Given the description of an element on the screen output the (x, y) to click on. 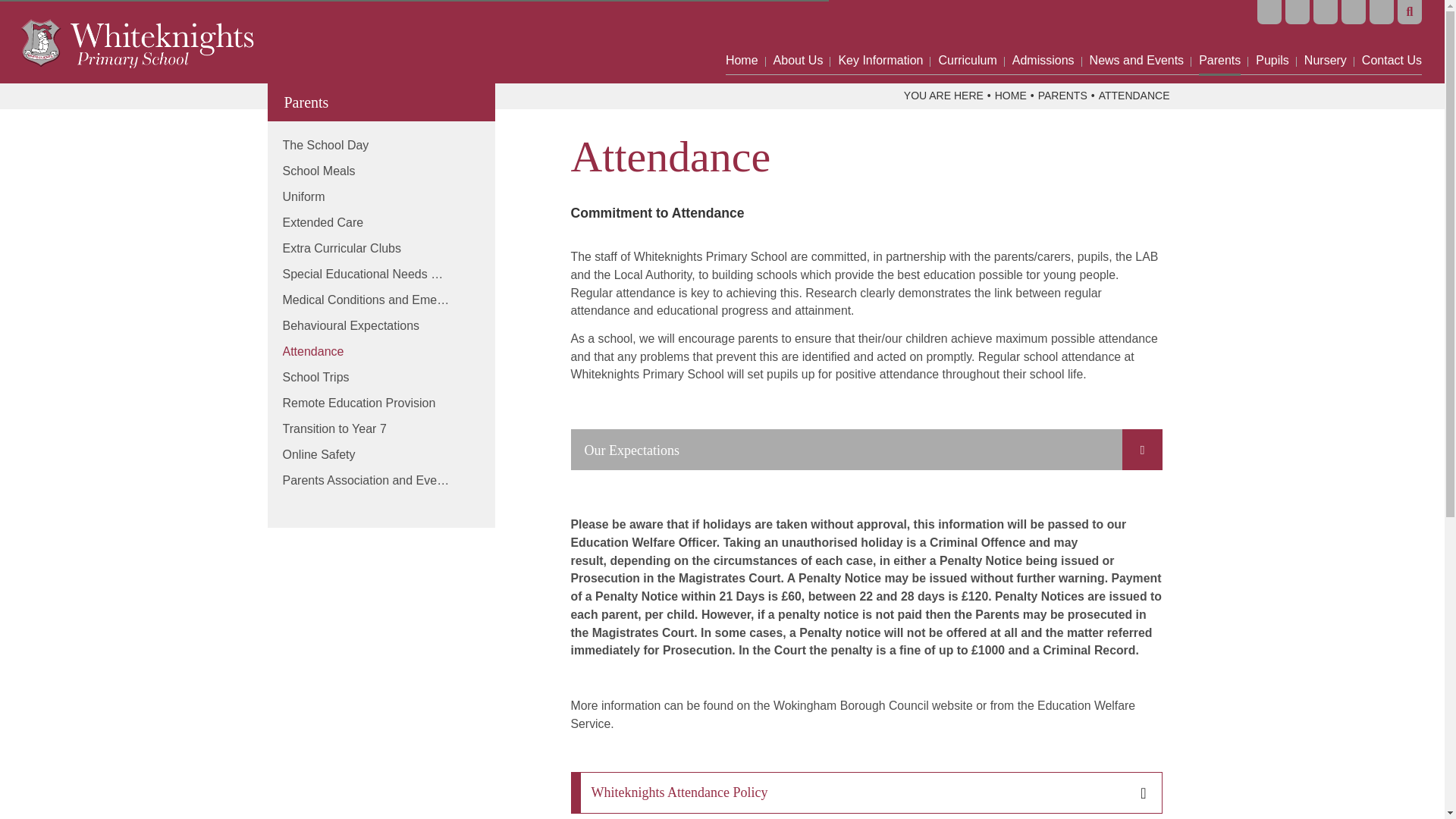
Parents (1219, 38)
News and Events (1136, 38)
on (865, 449)
Curriculum (967, 38)
About Us (798, 38)
Home (741, 38)
Home (741, 38)
About Us (798, 38)
Admissions (1042, 38)
Key Information (879, 38)
Key Information (879, 38)
